Given the description of an element on the screen output the (x, y) to click on. 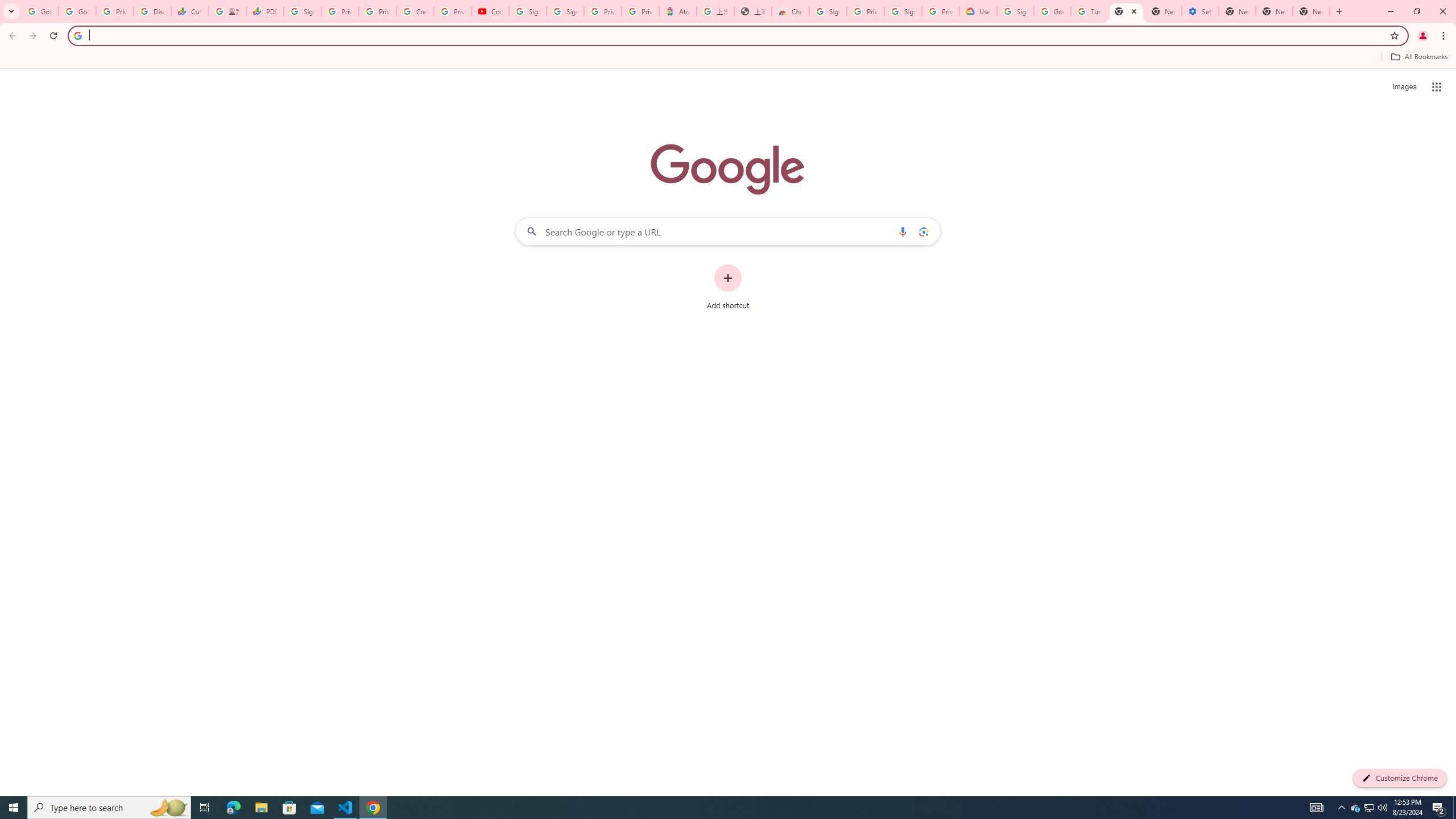
Create your Google Account (415, 11)
Content Creator Programs & Opportunities - YouTube Creators (489, 11)
PDD Holdings Inc - ADR (PDD) Price & News - Google Finance (264, 11)
